Given the description of an element on the screen output the (x, y) to click on. 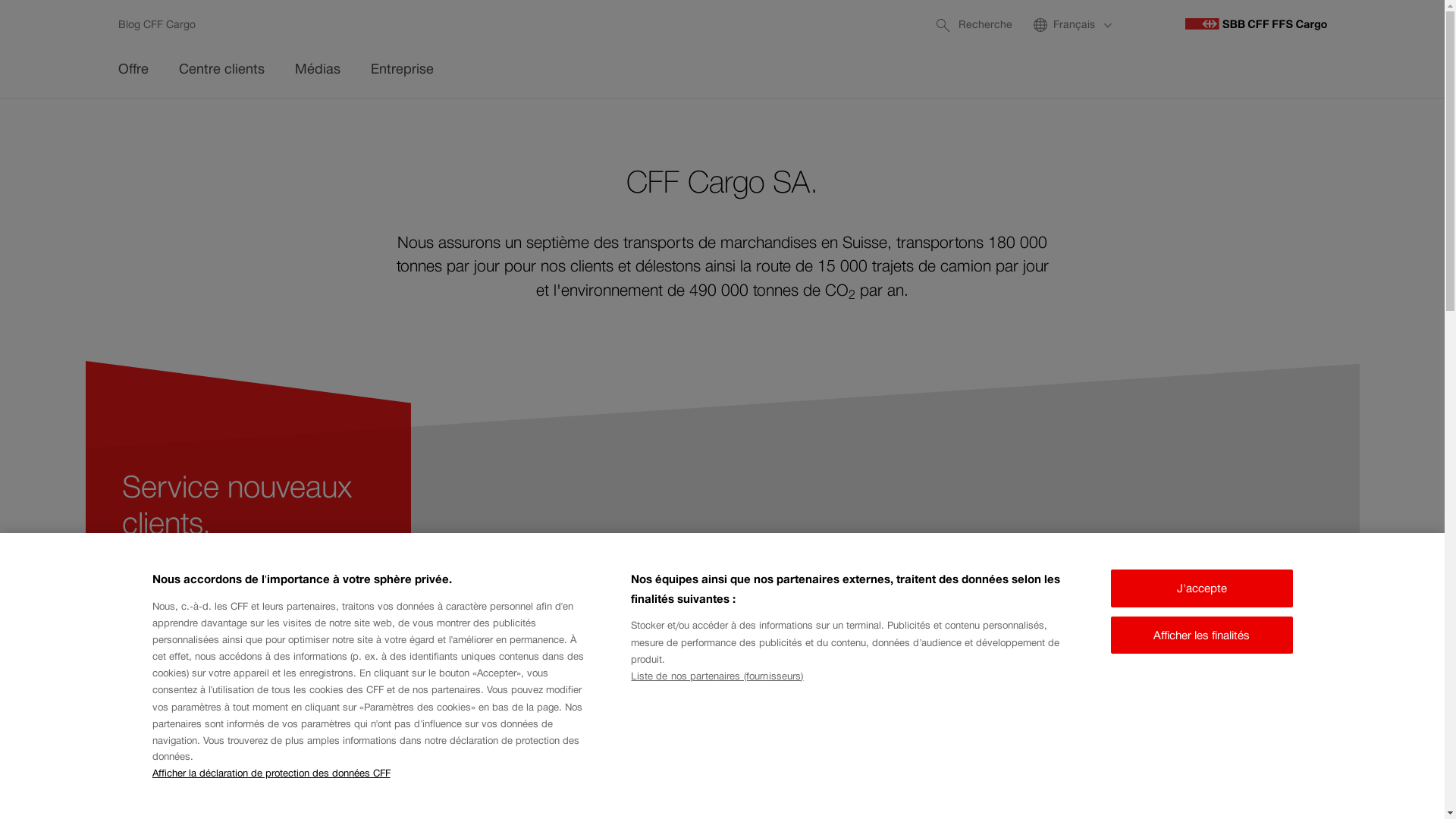
Offre Element type: text (133, 70)
Liste de nos partenaires (fournisseurs) Element type: text (716, 676)
Centre clients Element type: text (221, 70)
Recherche
Ouvrir Element type: text (971, 24)
CFF Cargo Home Element type: text (1256, 24)
J'accepte Element type: text (1201, 588)
Entreprise Element type: text (401, 70)
